Given the description of an element on the screen output the (x, y) to click on. 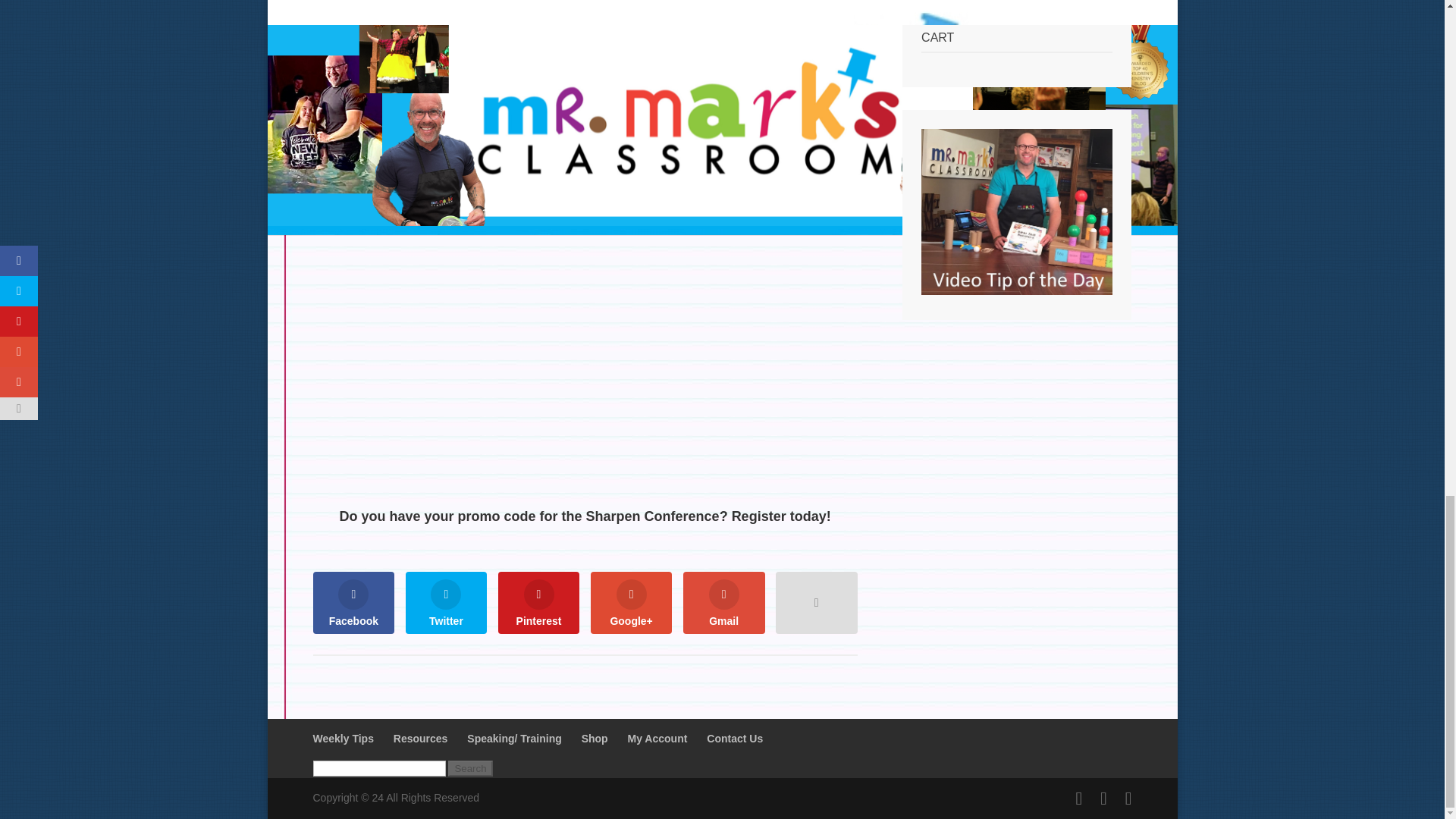
Facebook (353, 602)
Search (470, 768)
Twitter (446, 602)
Gmail (723, 602)
Pinterest (538, 602)
